Given the description of an element on the screen output the (x, y) to click on. 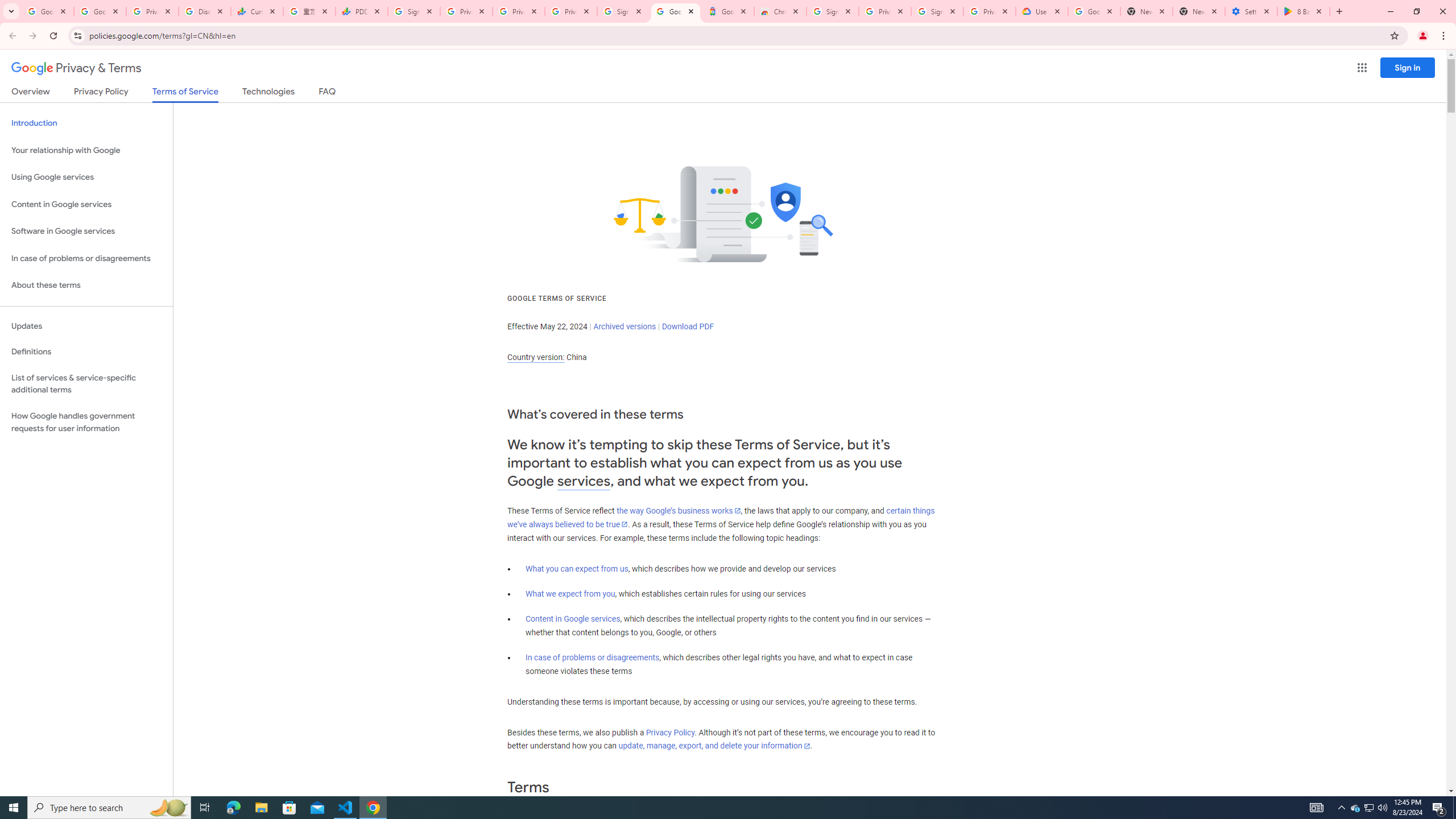
Updates (86, 325)
What you can expect from us (576, 568)
Technologies (268, 93)
Using Google services (86, 176)
Download PDF (687, 326)
FAQ (327, 93)
Your relationship with Google (86, 150)
